Given the description of an element on the screen output the (x, y) to click on. 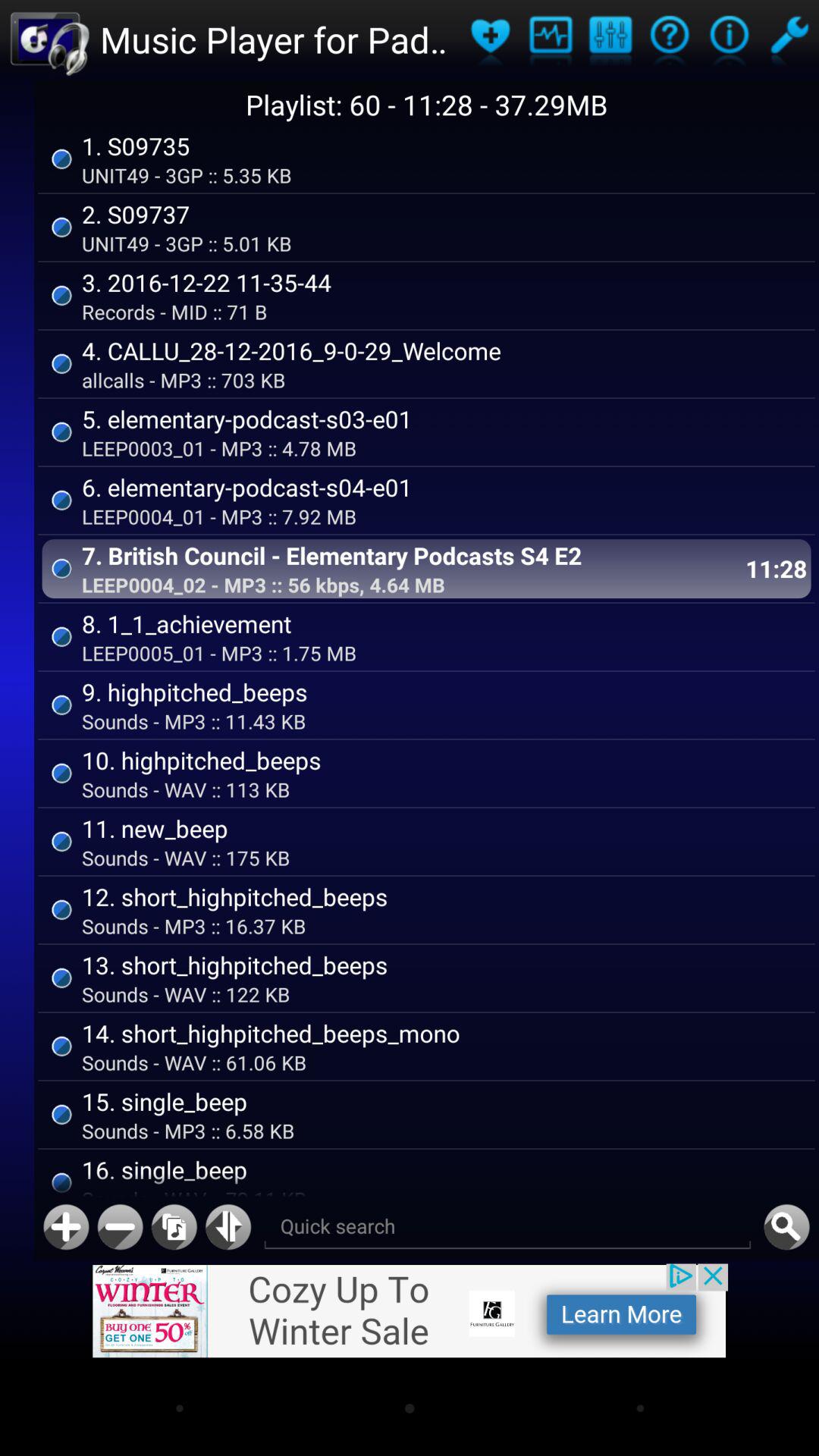
musical icone (609, 39)
